Given the description of an element on the screen output the (x, y) to click on. 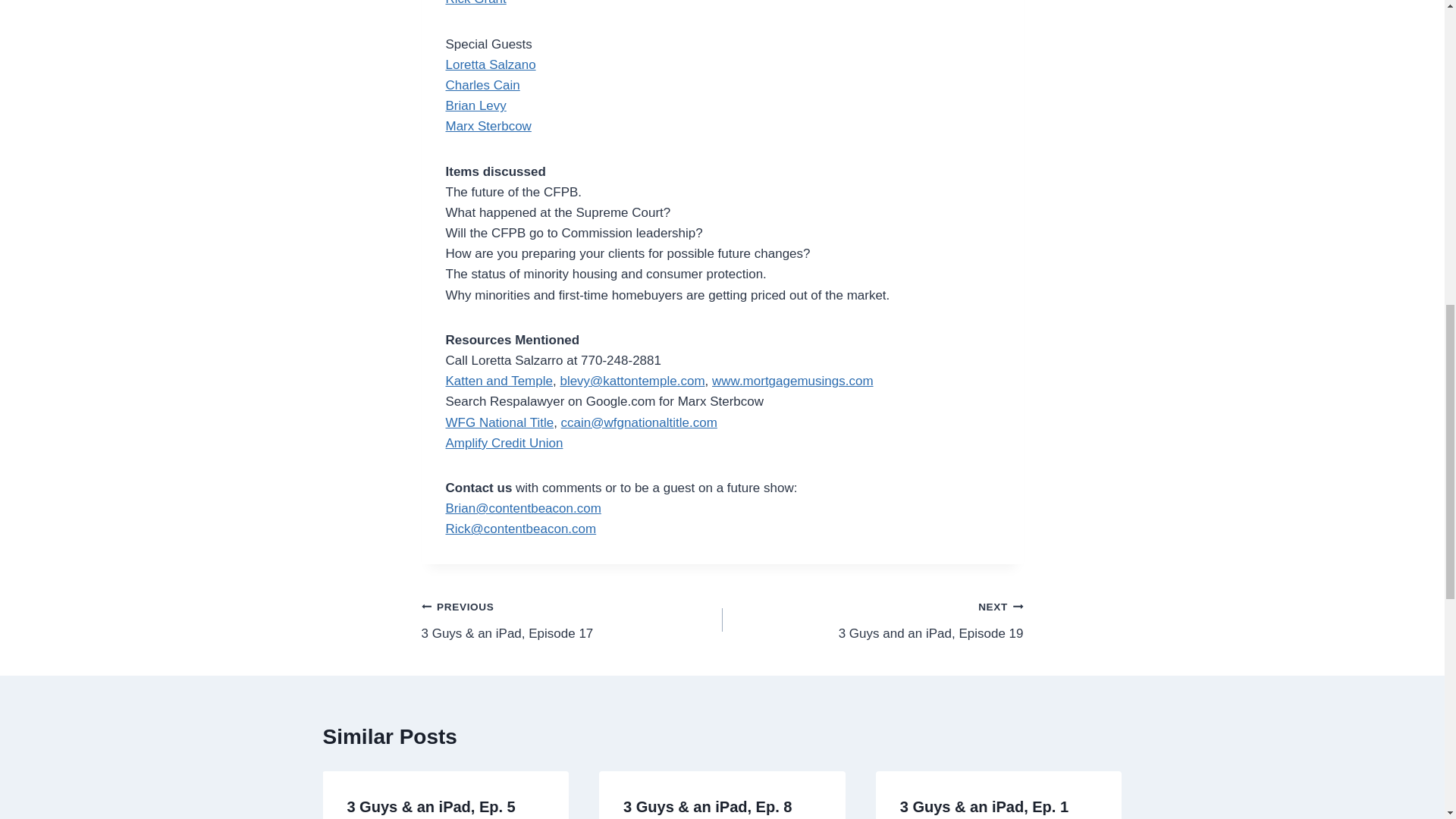
Brian Levy (475, 105)
Katten and Temple (499, 380)
Charles Cain (482, 84)
WFG National Title (499, 422)
Marx Sterbcow (872, 619)
Loretta Salzano (488, 125)
Rick Grant (490, 64)
www.mortgagemusings.com (475, 2)
Amplify Credit Union (792, 380)
